Given the description of an element on the screen output the (x, y) to click on. 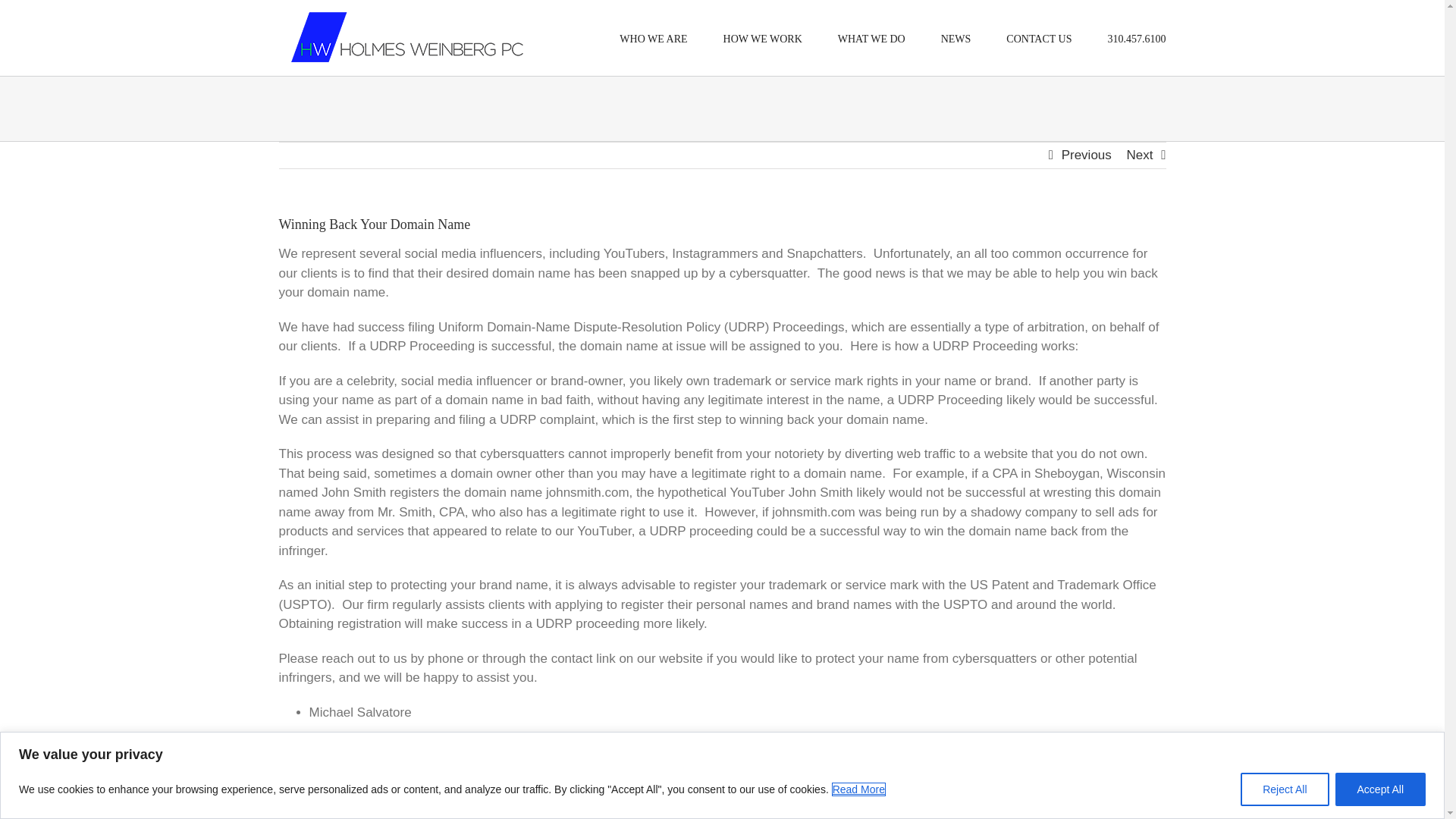
Previous (1086, 155)
HOW WE WORK (762, 38)
Straw to Gold (614, 777)
Next (1139, 155)
WHAT WE DO (871, 38)
WHO WE ARE (653, 38)
The Brand Lawyer (412, 747)
Privacy Policy (477, 777)
